Given the description of an element on the screen output the (x, y) to click on. 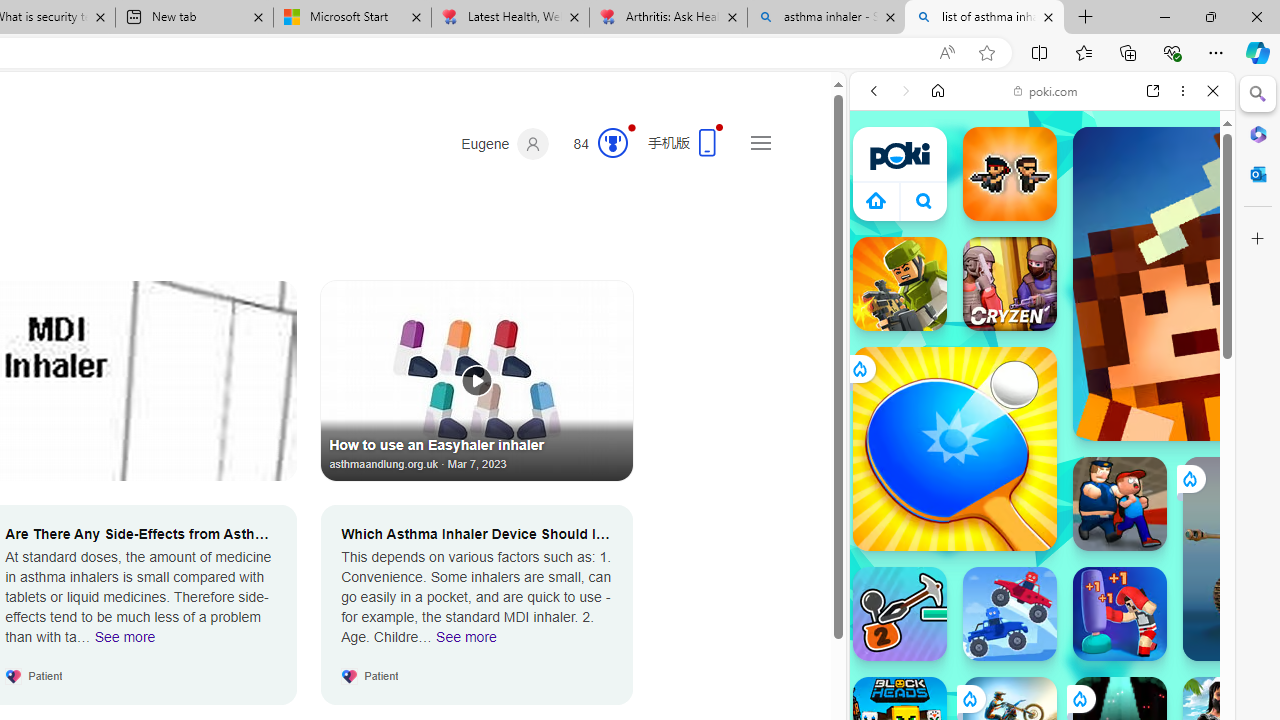
Escape From School (1119, 503)
This site scope (936, 180)
Animation (632, 127)
Ping Pong Go! (954, 448)
SEARCH TOOLS (1093, 228)
Show More Shooting Games (1164, 521)
Stickman Climb 2 (899, 613)
AutomationID: rh_meter (612, 142)
